Given the description of an element on the screen output the (x, y) to click on. 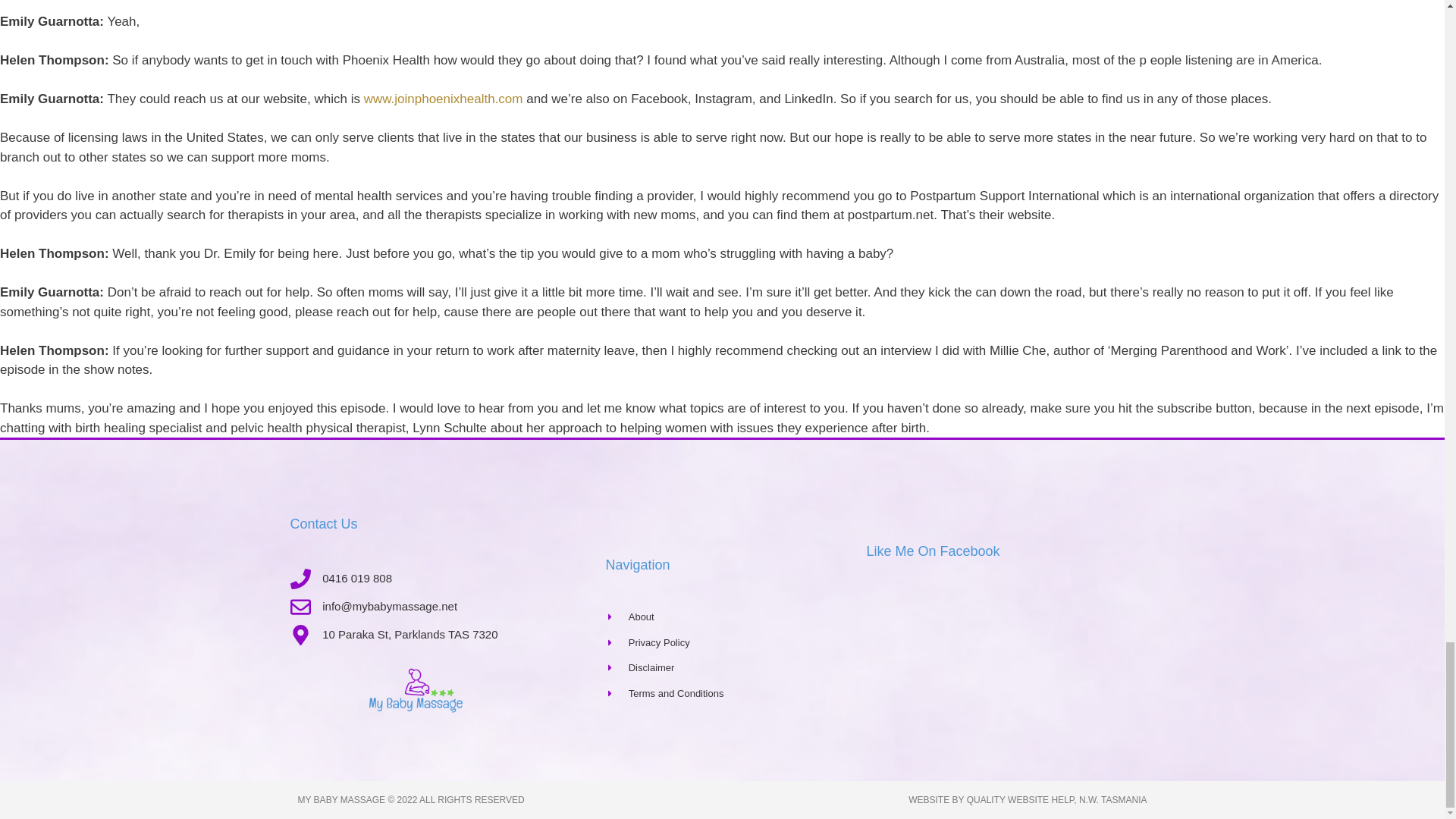
About (735, 616)
Terms and Conditions (735, 693)
Privacy Policy (735, 642)
Disclaimer (735, 667)
WEBSITE BY QUALITY WEBSITE HELP, N.W. TASMANIA (1027, 799)
www.joinphoenixhealth.com (443, 98)
